Given the description of an element on the screen output the (x, y) to click on. 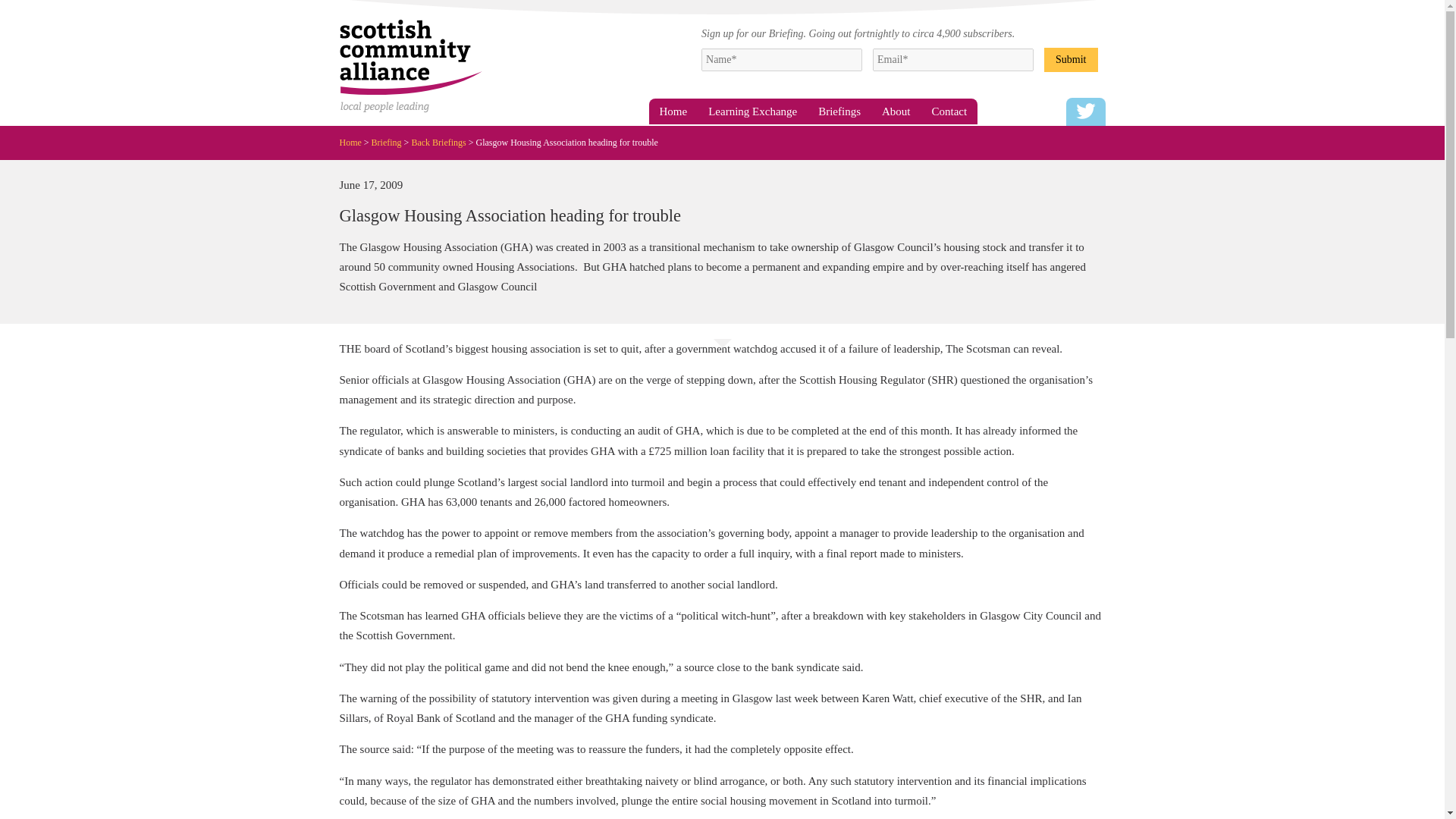
Home (355, 141)
Contact (949, 111)
Back Briefings (443, 141)
Go to Briefing. (391, 141)
Submit (1070, 58)
Learning Exchange (752, 111)
Briefings (839, 111)
Briefing (391, 141)
About (895, 111)
Home (673, 111)
Go to Back Briefings. (443, 141)
Submit (1070, 58)
Go to Scottish Community Alliance. (355, 141)
